Given the description of an element on the screen output the (x, y) to click on. 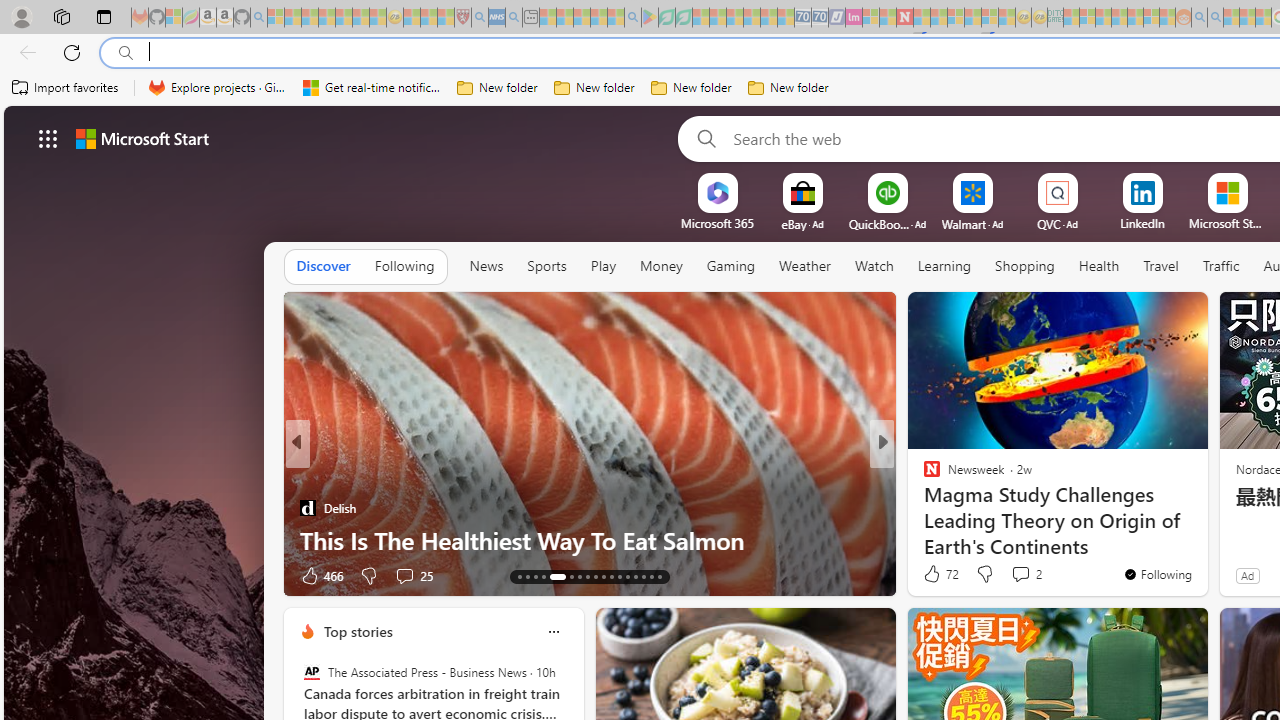
Microsoft account | Privacy - Sleeping (1087, 17)
Play (602, 265)
Microsoft Start - Sleeping (1231, 17)
Recipes - MSN - Sleeping (411, 17)
The Hearty Soul (923, 475)
New tab - Sleeping (530, 17)
AutomationID: tab-27 (642, 576)
10 Like (934, 574)
Money (660, 265)
You're following Newsweek (1157, 573)
